Given the description of an element on the screen output the (x, y) to click on. 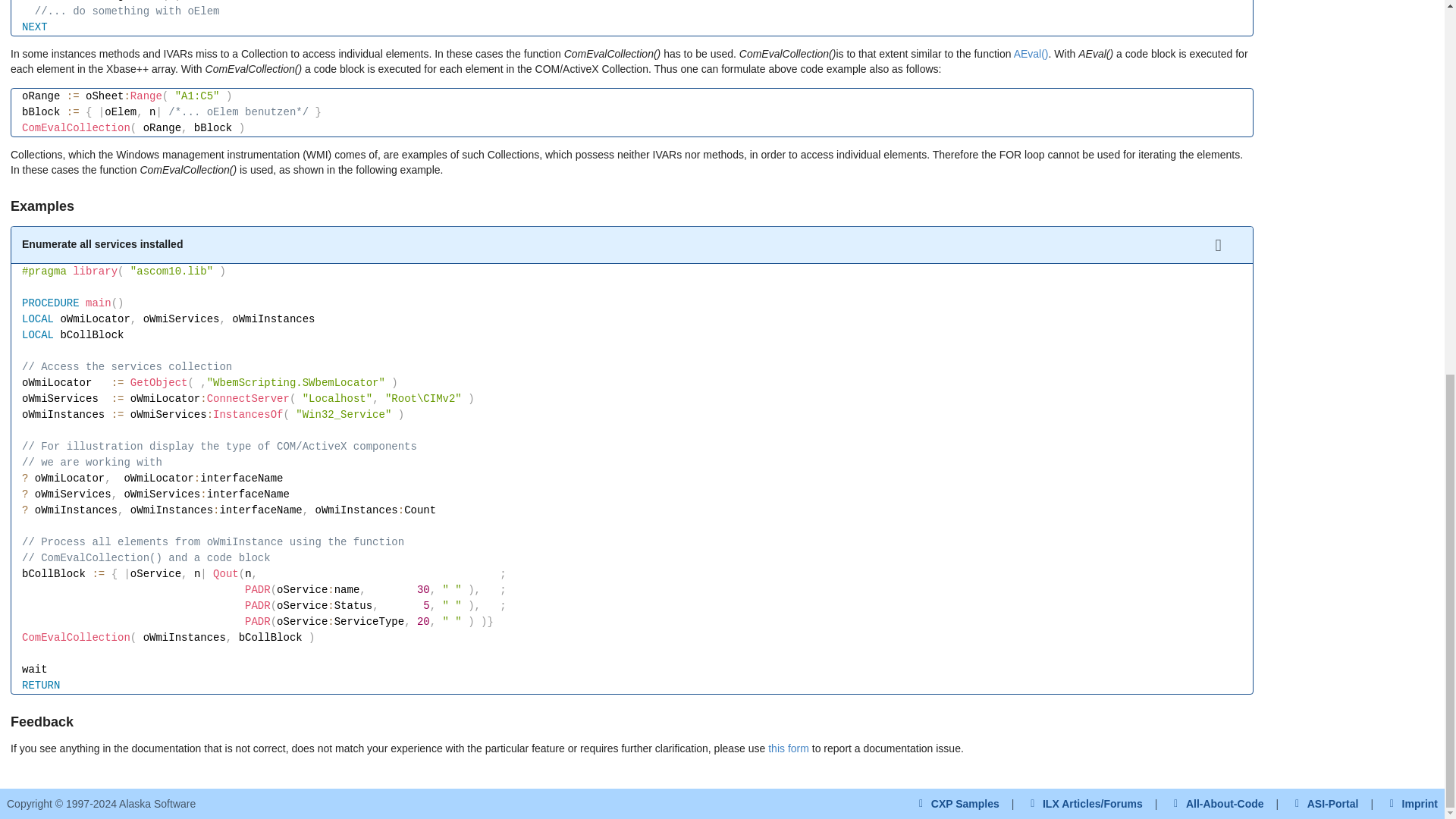
this form (788, 748)
